Given the description of an element on the screen output the (x, y) to click on. 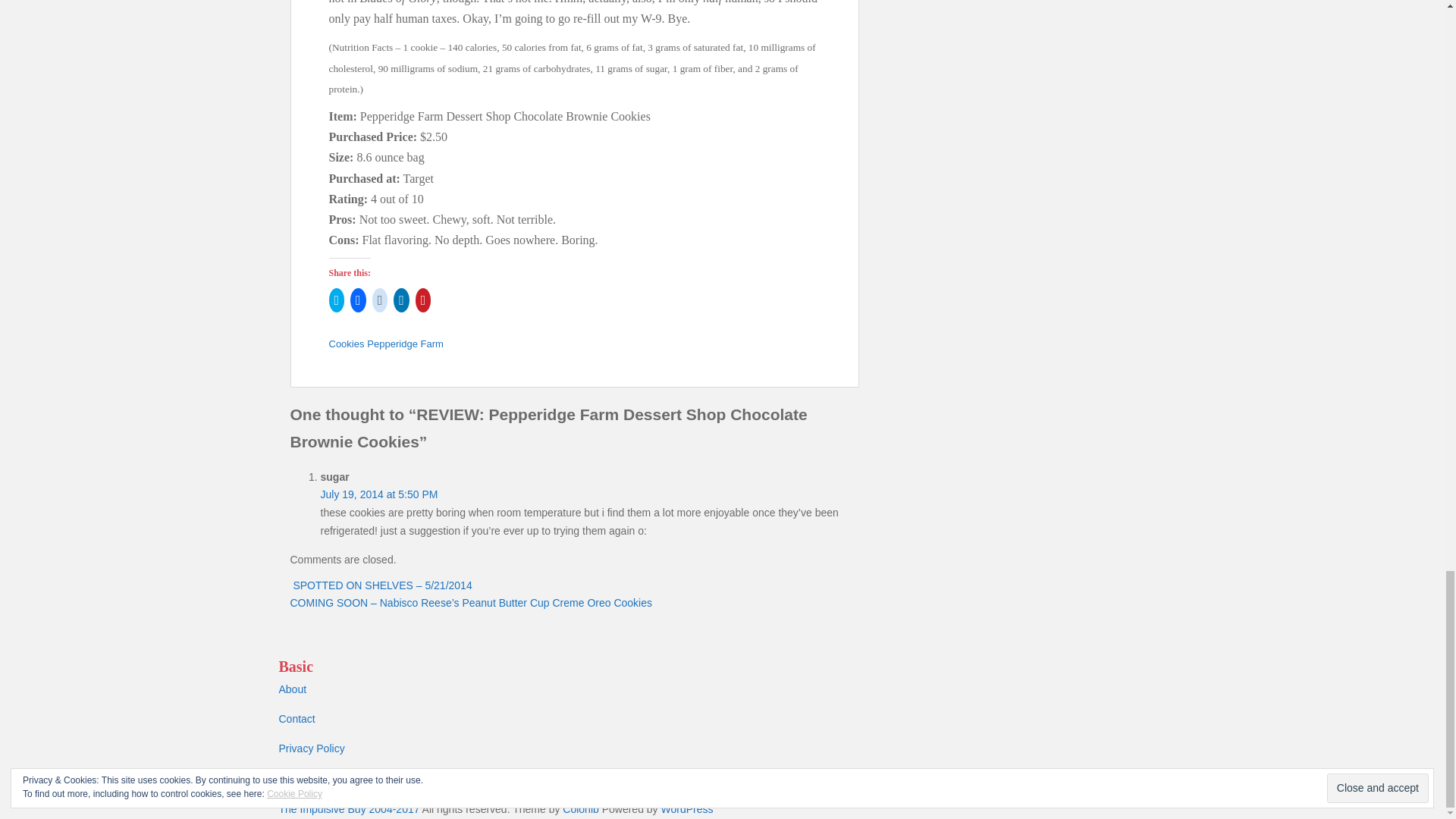
Pepperidge Farm (404, 343)
Cookies (347, 343)
July 19, 2014 at 5:50 PM (379, 494)
